Given the description of an element on the screen output the (x, y) to click on. 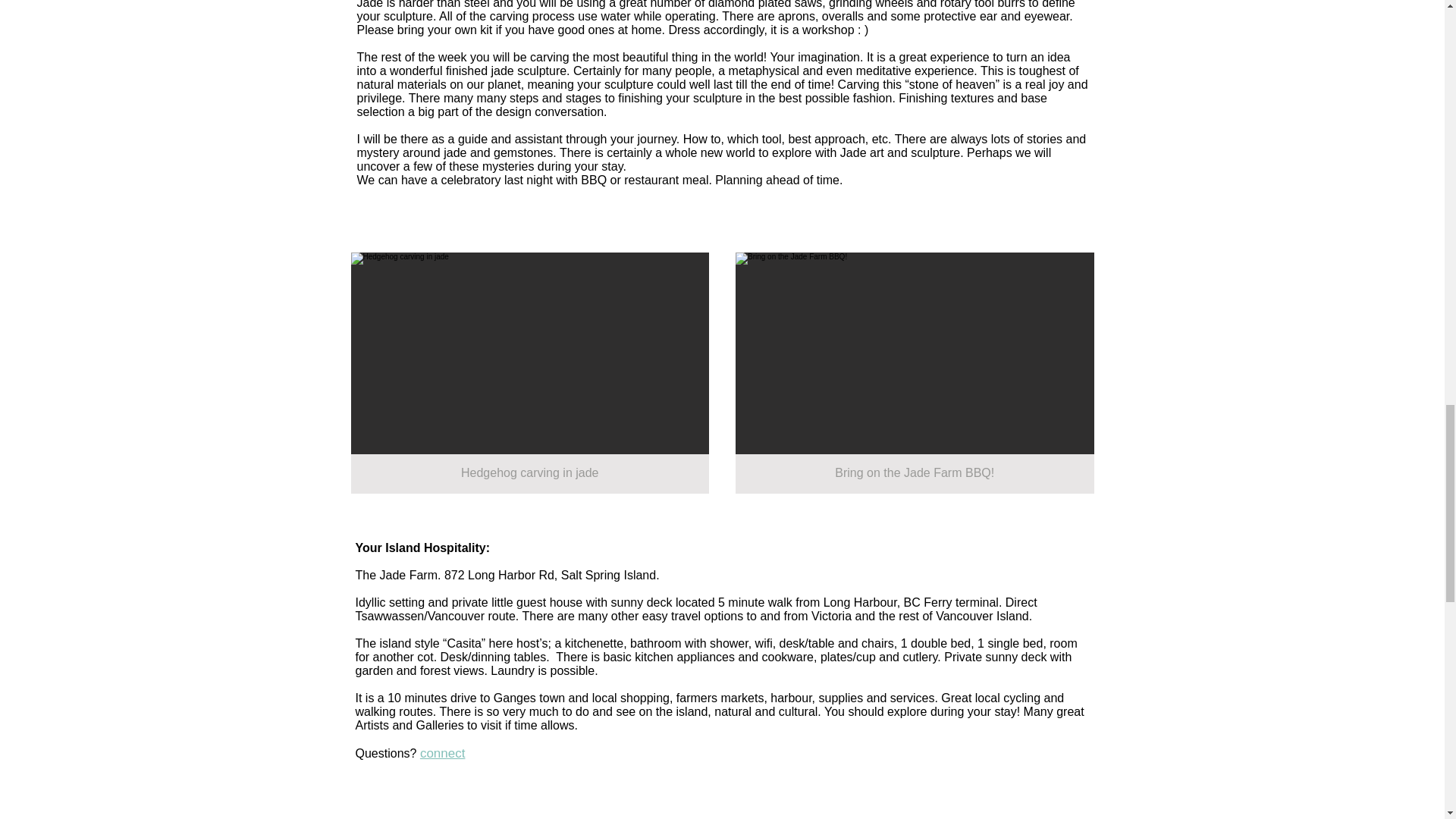
connect (442, 753)
